Given the description of an element on the screen output the (x, y) to click on. 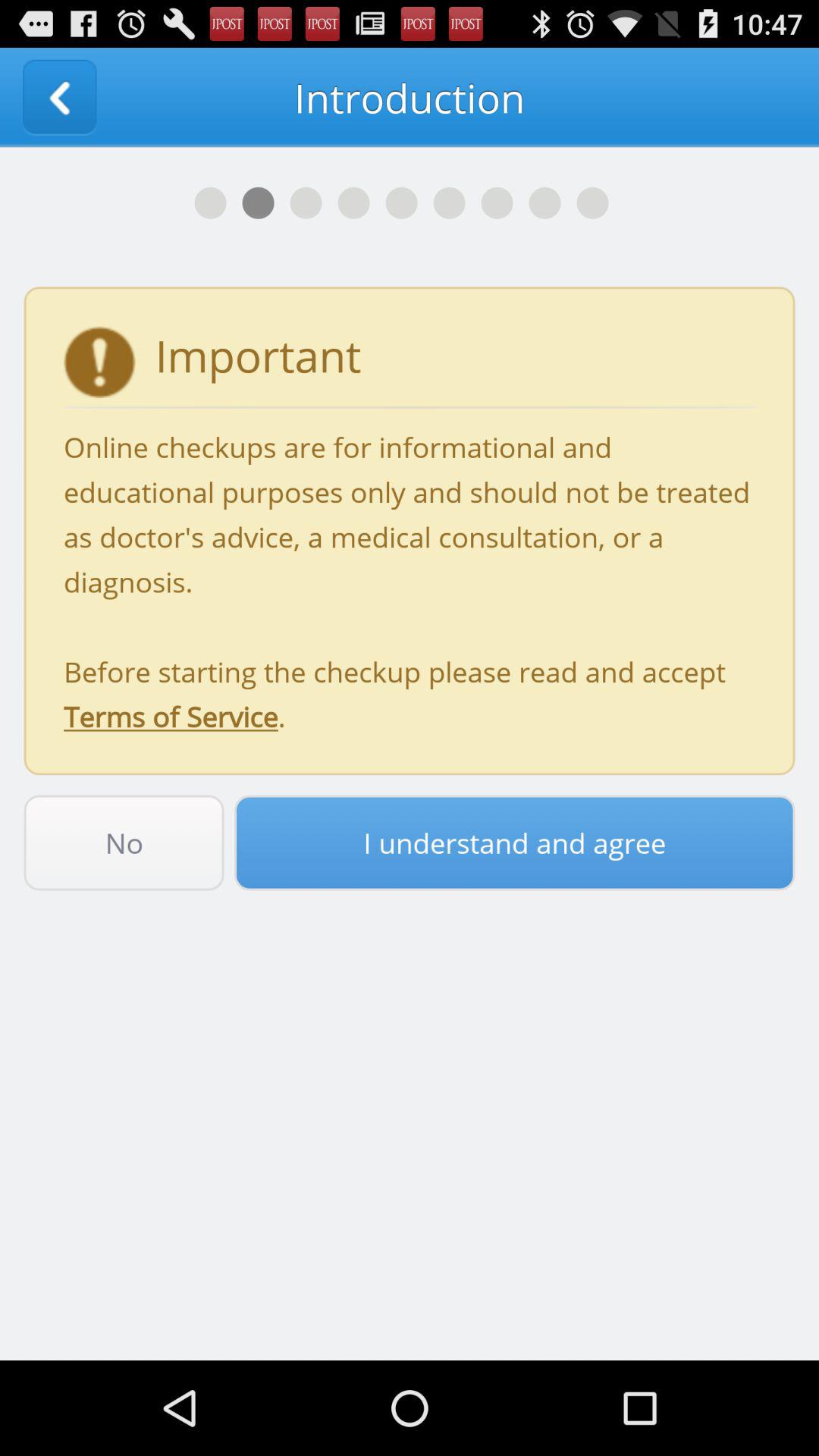
tap icon below online checkups are item (123, 842)
